Given the description of an element on the screen output the (x, y) to click on. 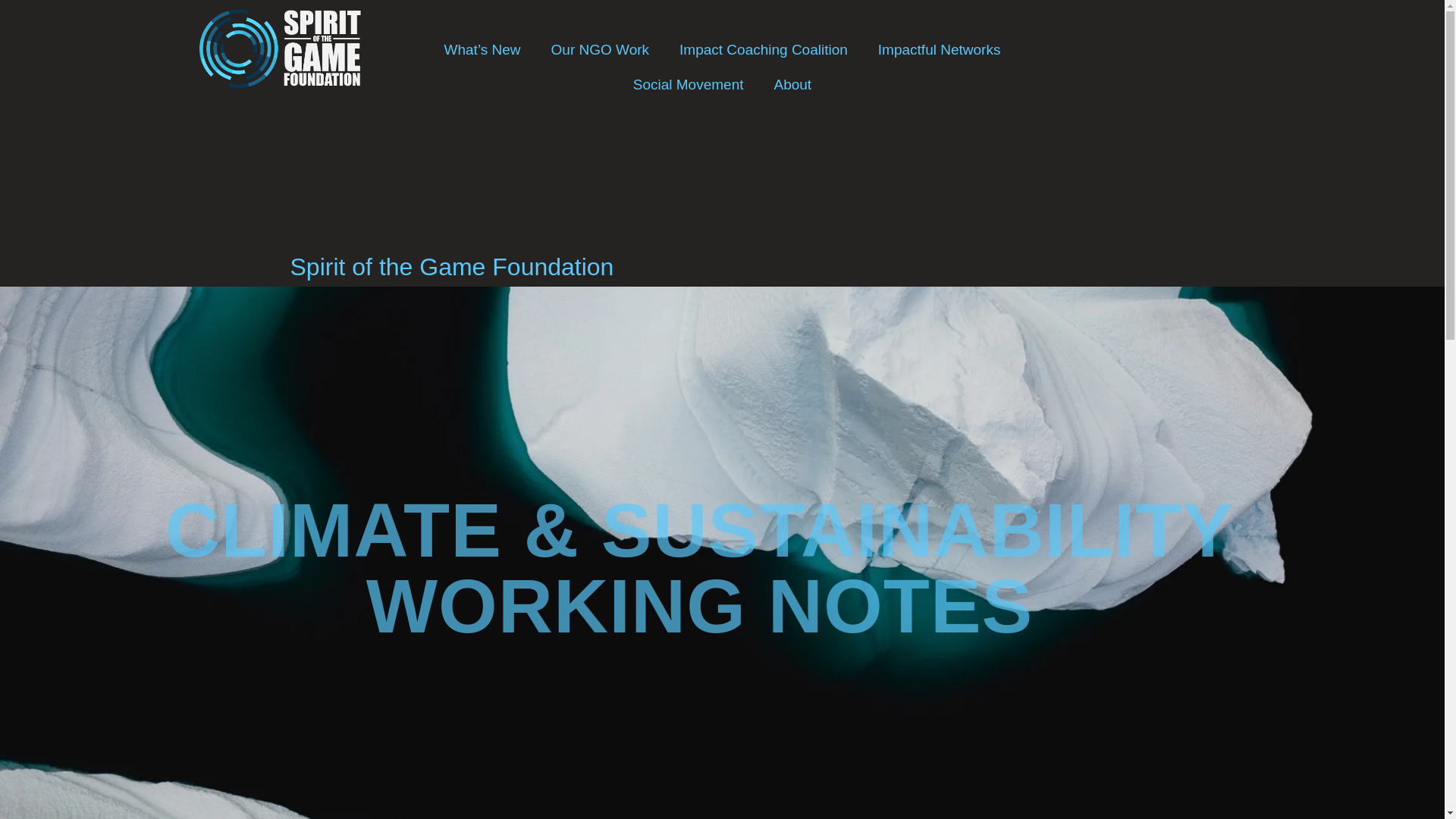
Our NGO Work (600, 49)
Impact Coaching Coalition (763, 49)
Impactful Networks (939, 49)
Social Movement (687, 84)
